Given the description of an element on the screen output the (x, y) to click on. 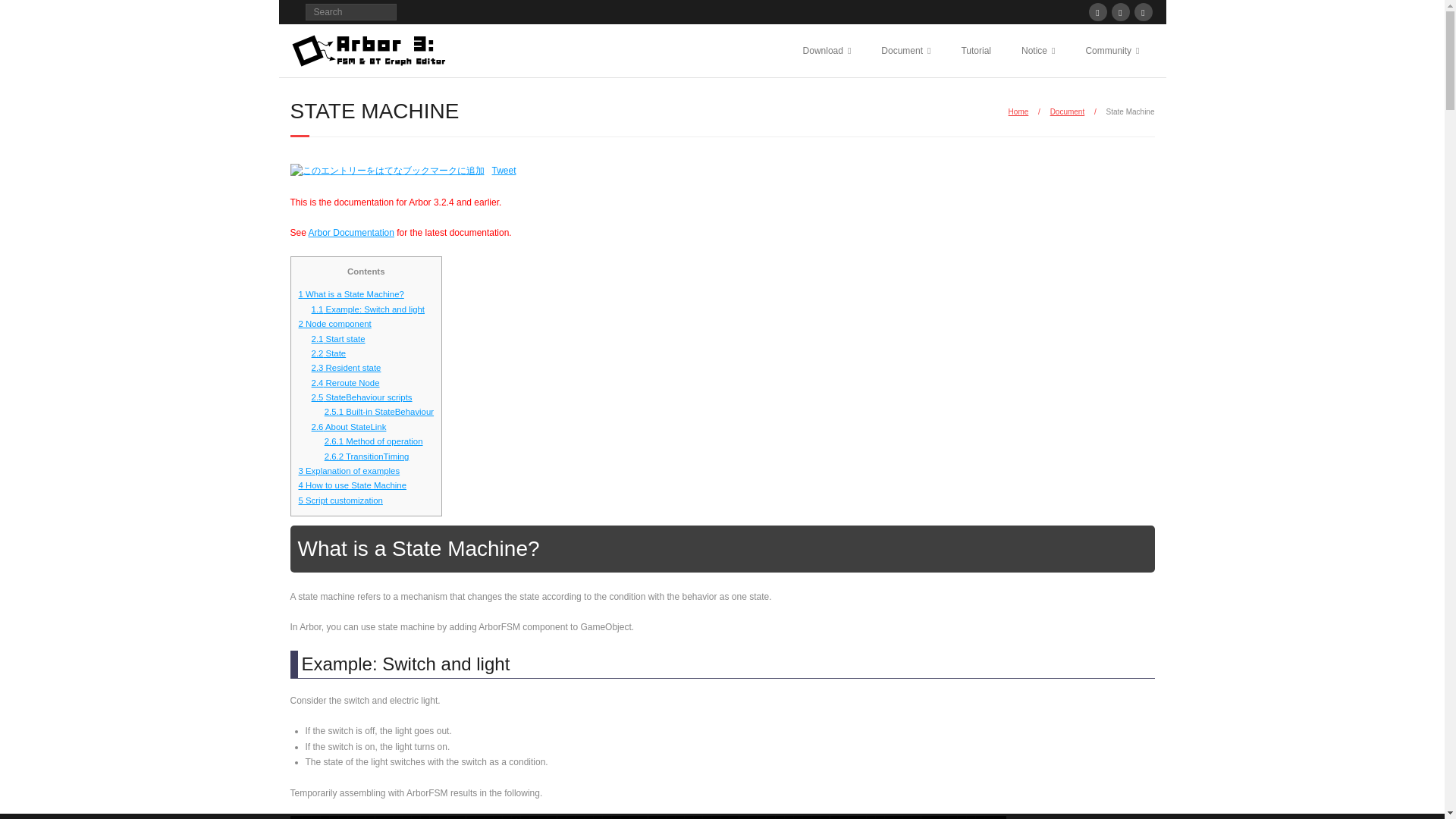
Document (905, 50)
Search (25, 13)
Tutorial (975, 50)
Community (1112, 50)
Download (826, 50)
Notice (1038, 50)
